Given the description of an element on the screen output the (x, y) to click on. 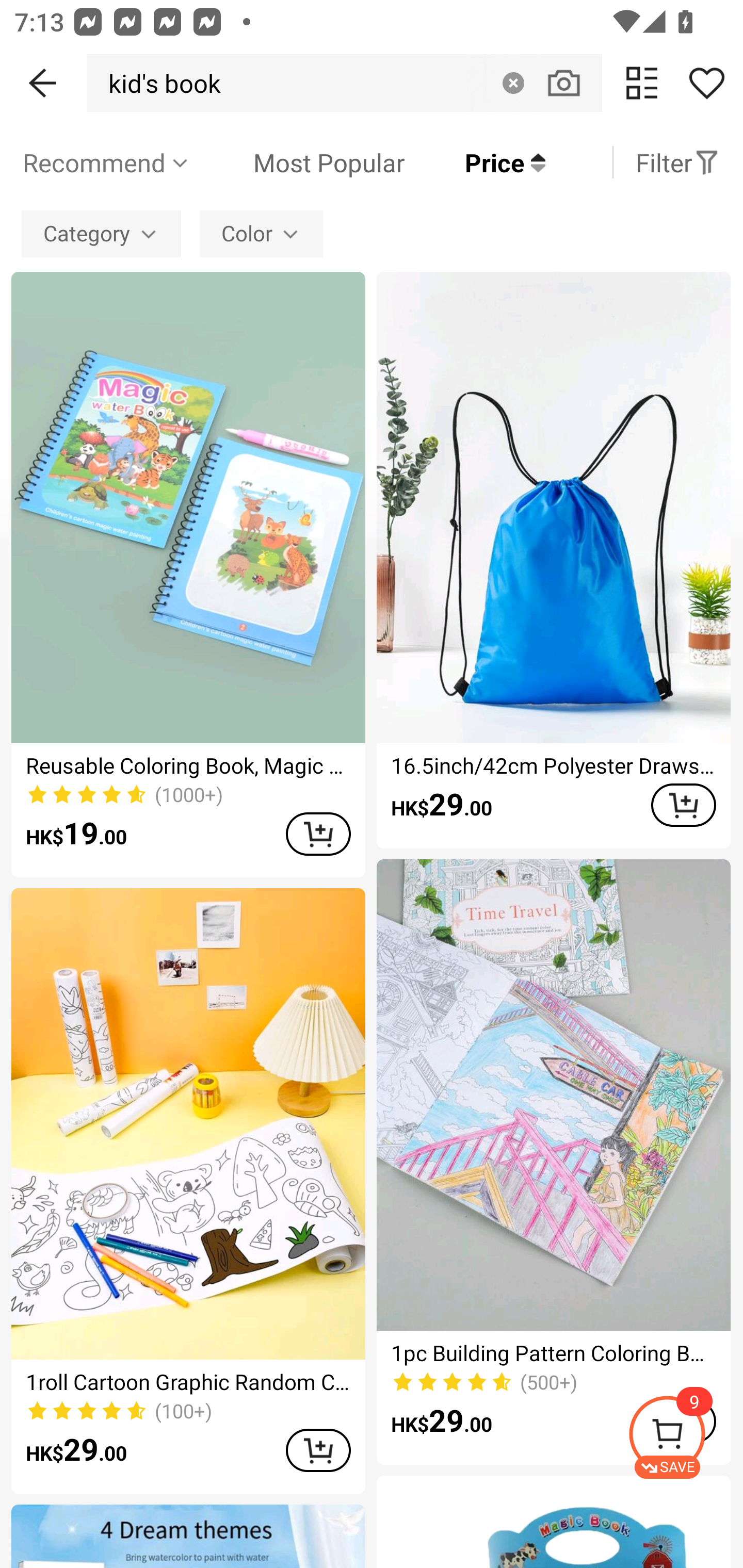
kid's book Clear (343, 82)
kid's book (158, 82)
Clear (513, 82)
change view (641, 82)
Share (706, 82)
Recommend (106, 162)
Most Popular (297, 162)
Price (474, 162)
Filter (677, 162)
Category (101, 233)
Color (261, 233)
ADD TO CART (683, 805)
ADD TO CART (318, 834)
SAVE (685, 1436)
ADD TO CART (318, 1450)
